Given the description of an element on the screen output the (x, y) to click on. 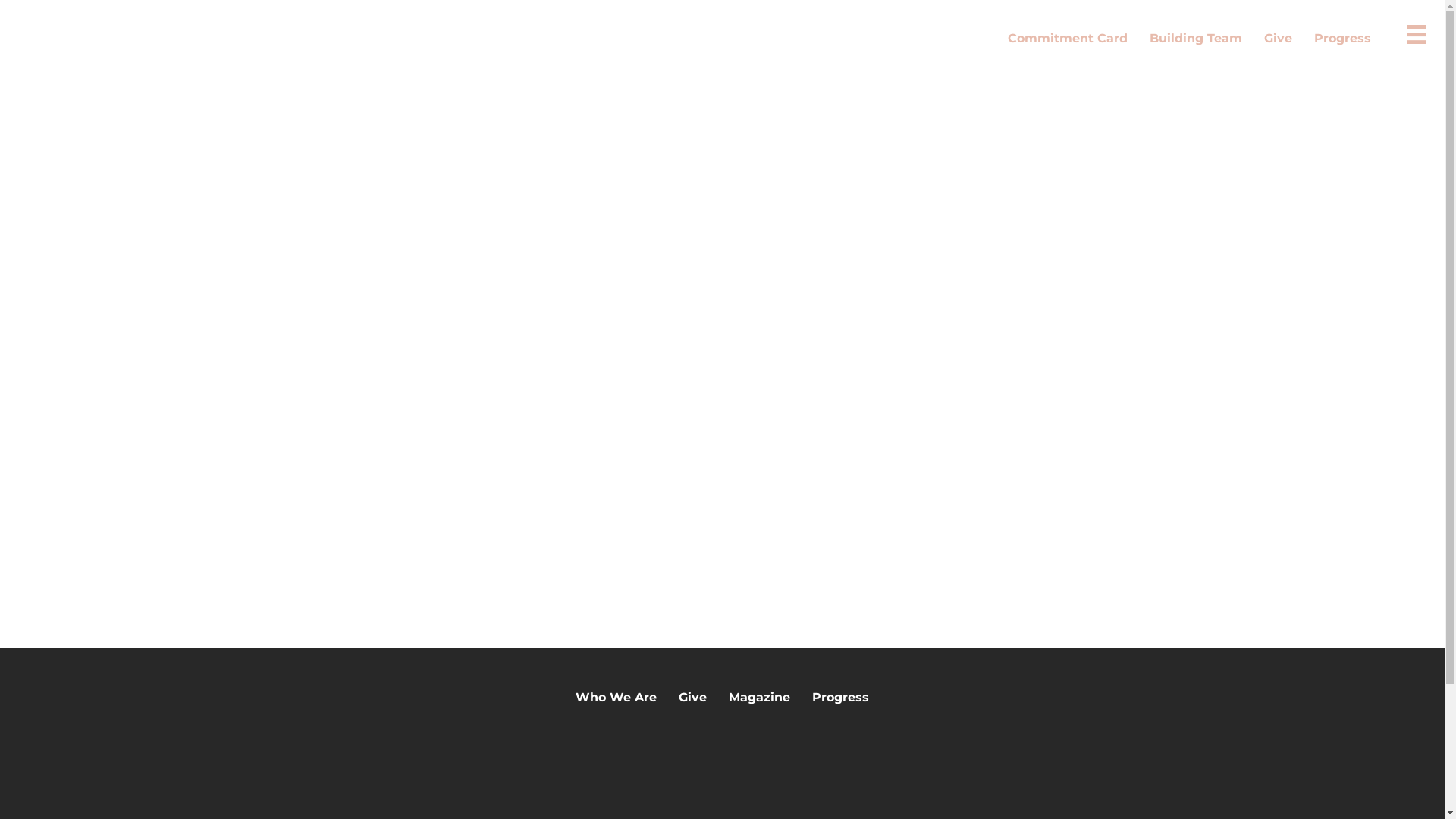
Progress Element type: text (1342, 37)
Magazine Element type: text (759, 696)
Building Team Element type: text (1195, 37)
Give Element type: text (1277, 37)
Commitment Card Element type: text (1067, 37)
Progress Element type: text (840, 696)
Who We Are Element type: text (615, 696)
Give Element type: text (692, 696)
